Given the description of an element on the screen output the (x, y) to click on. 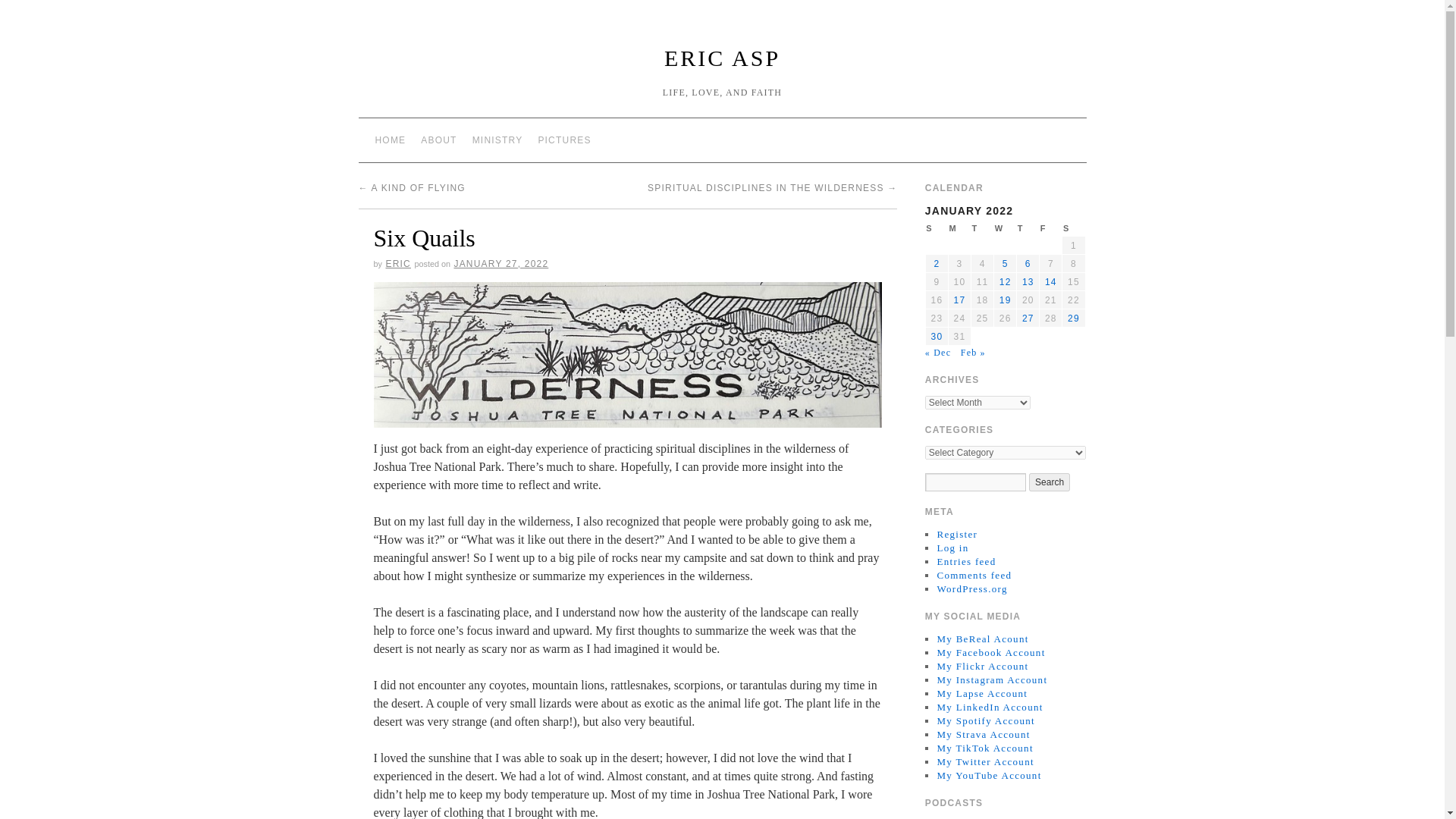
17 (959, 299)
14 (1051, 281)
Sunday (935, 228)
PICTURES (563, 140)
ABOUT (438, 140)
Saturday (1073, 228)
ERIC ASP (721, 57)
View all posts by Eric (397, 263)
ERIC (397, 263)
Wednesday (1005, 228)
